Given the description of an element on the screen output the (x, y) to click on. 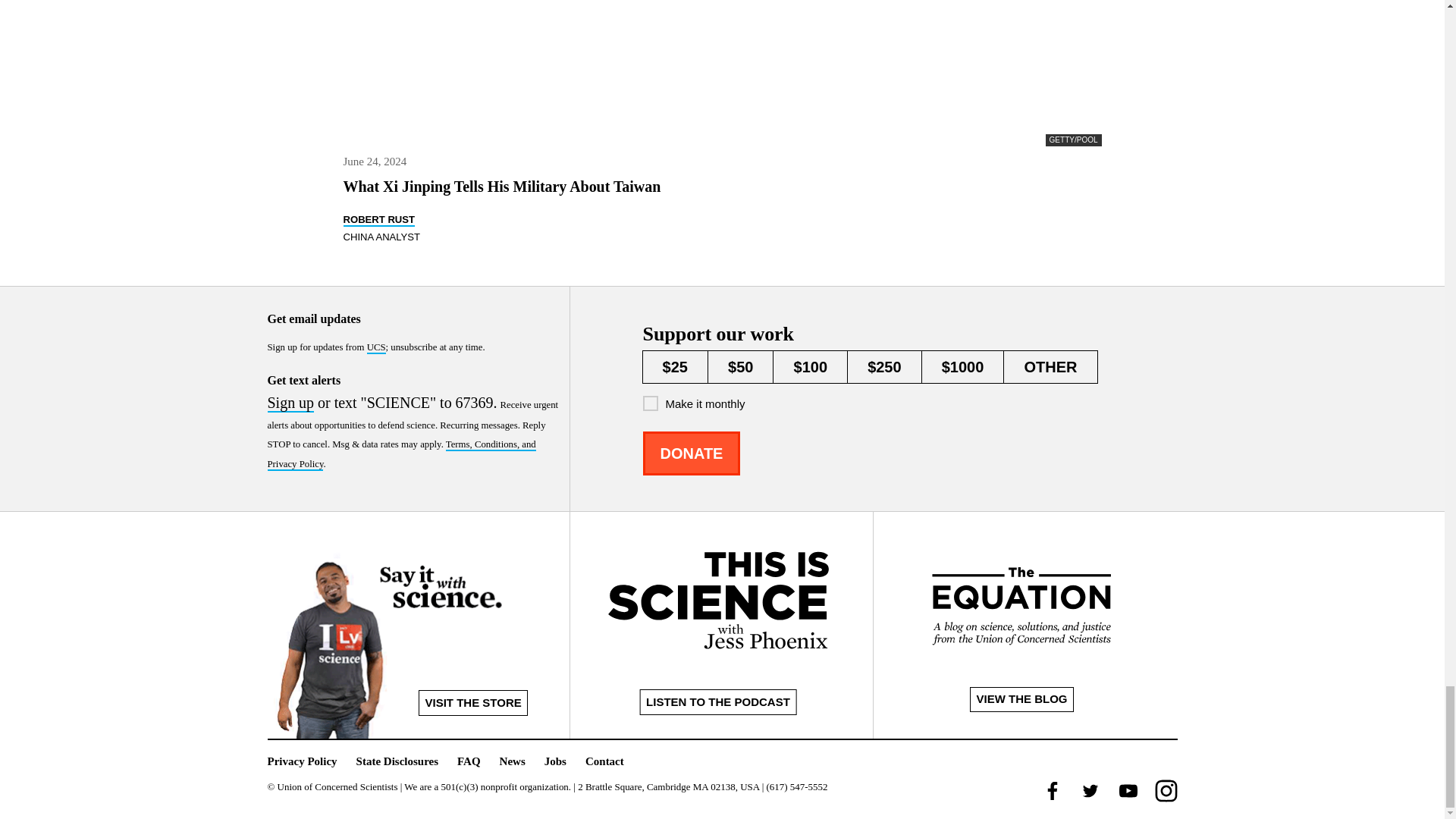
Donate Online (692, 453)
